Given the description of an element on the screen output the (x, y) to click on. 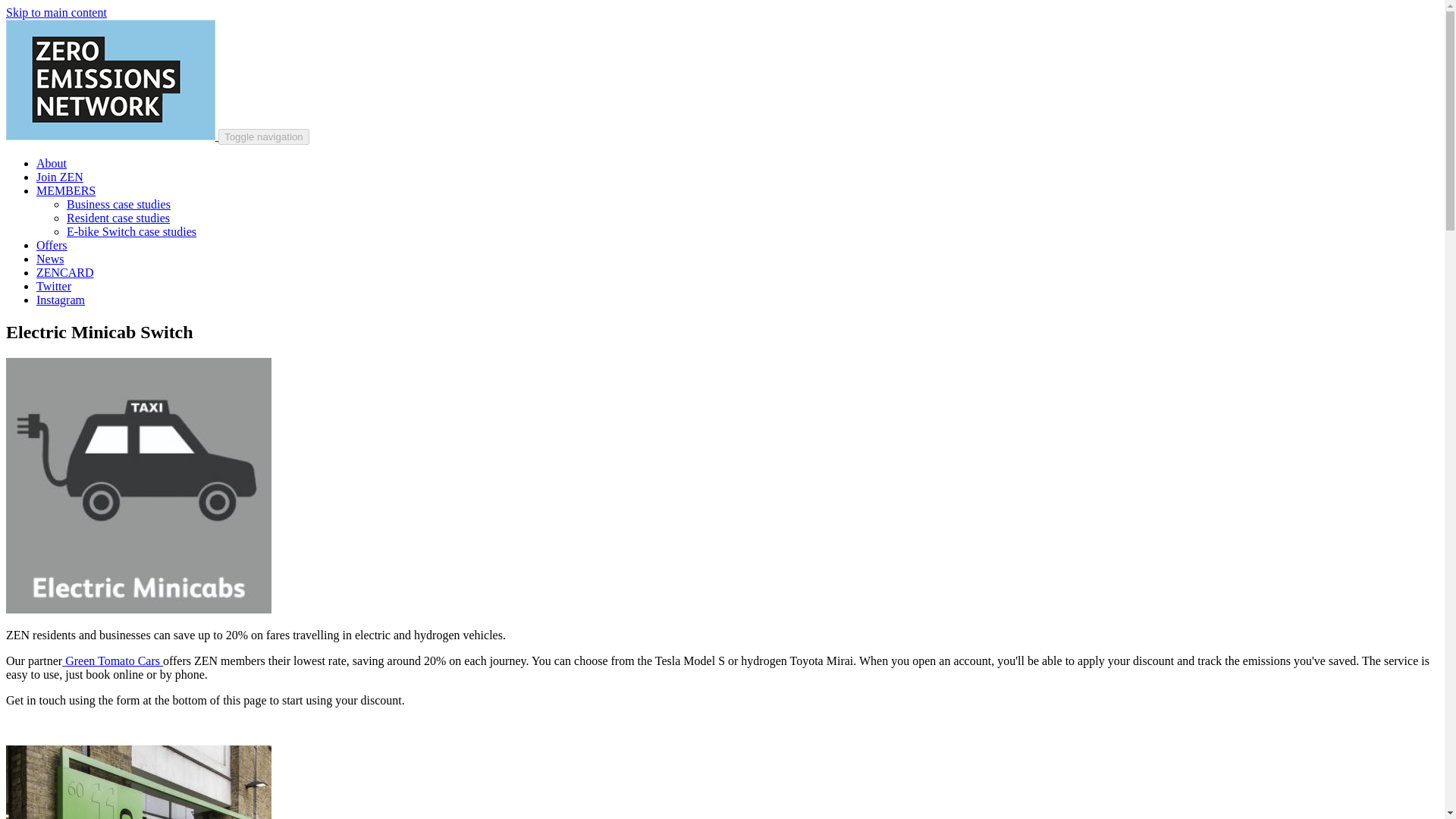
News (50, 258)
Green Tomato Cars (114, 660)
MEMBERS (66, 190)
Home (111, 135)
ZENCARD (65, 272)
Toggle navigation (263, 136)
Business case studies (118, 204)
Skip to main content (55, 11)
About (51, 163)
Resident case studies (118, 217)
Instagram (60, 299)
Offers (51, 245)
Join ZEN (59, 176)
Twitter (53, 286)
E-bike Switch case studies (131, 231)
